Given the description of an element on the screen output the (x, y) to click on. 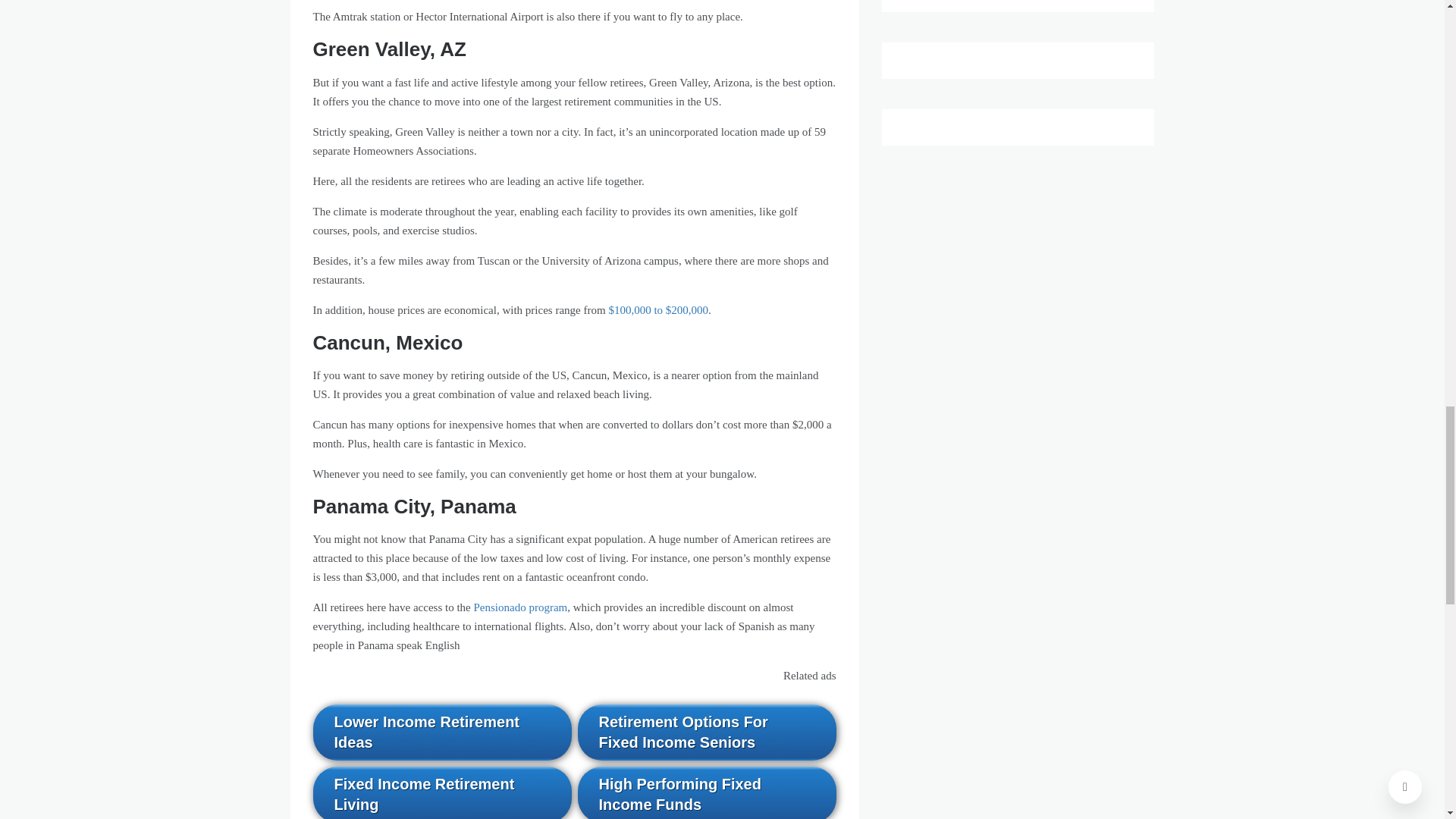
Fixed Income Retirement Living (441, 792)
High Performing Fixed Income Funds (706, 792)
Retirement Options For Fixed Income Seniors (706, 732)
Lower Income Retirement Ideas (441, 732)
Pensionado program (520, 607)
